Given the description of an element on the screen output the (x, y) to click on. 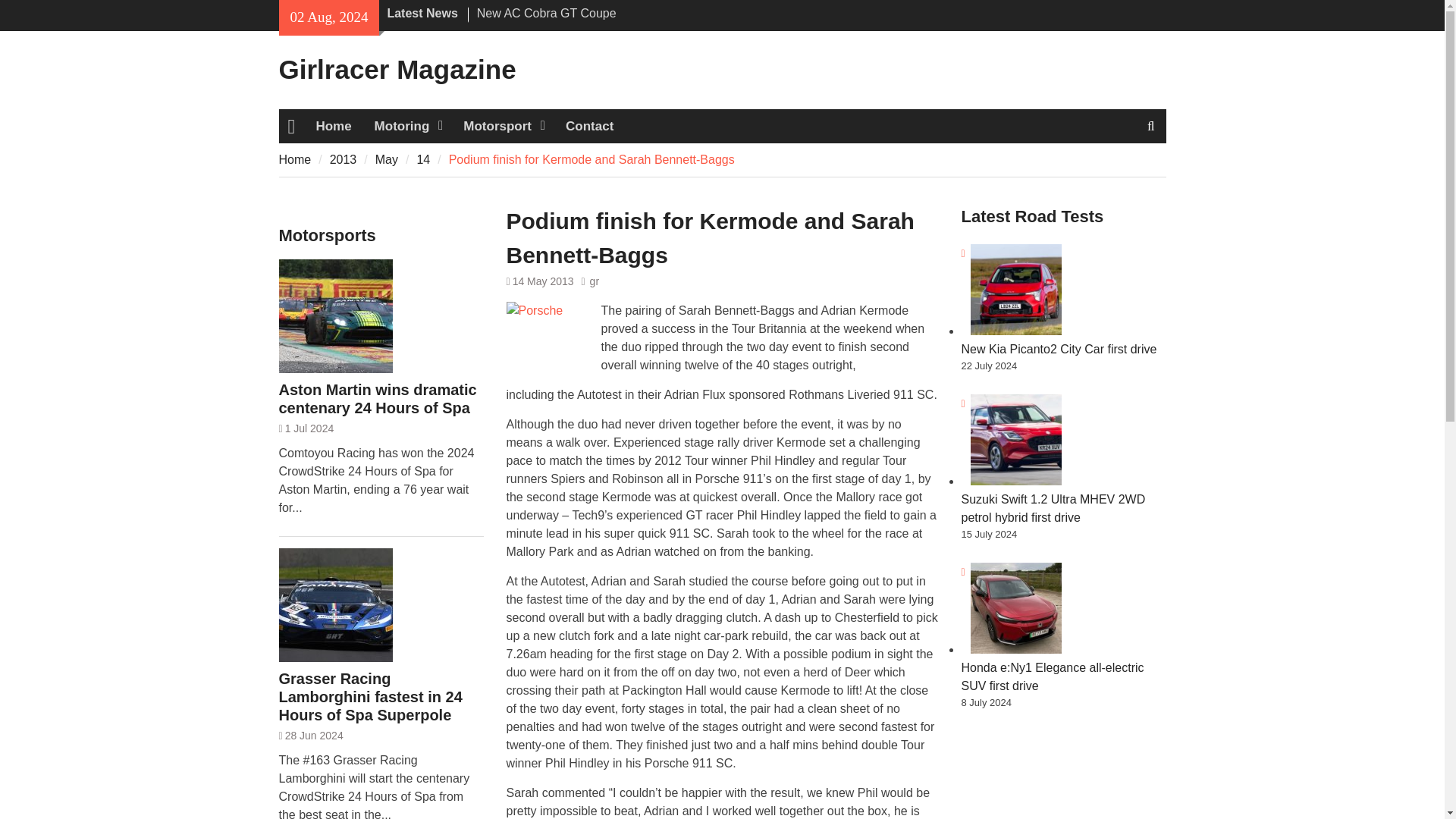
New Kia Picanto2 City Car first drive (1058, 349)
Motorsport (502, 126)
Honda e:Ny1 Elegance all-electric SUV first drive (1052, 676)
Home (295, 159)
Home (333, 126)
14 (422, 159)
Contact (589, 126)
Girlracer Magazine (397, 69)
May (386, 159)
Suzuki Swift 1.2 Ultra MHEV 2WD petrol hybrid first drive (1052, 508)
Motoring (407, 126)
14 May 2013 (542, 281)
2013 (343, 159)
New AC Cobra GT Coupe (546, 12)
